Given the description of an element on the screen output the (x, y) to click on. 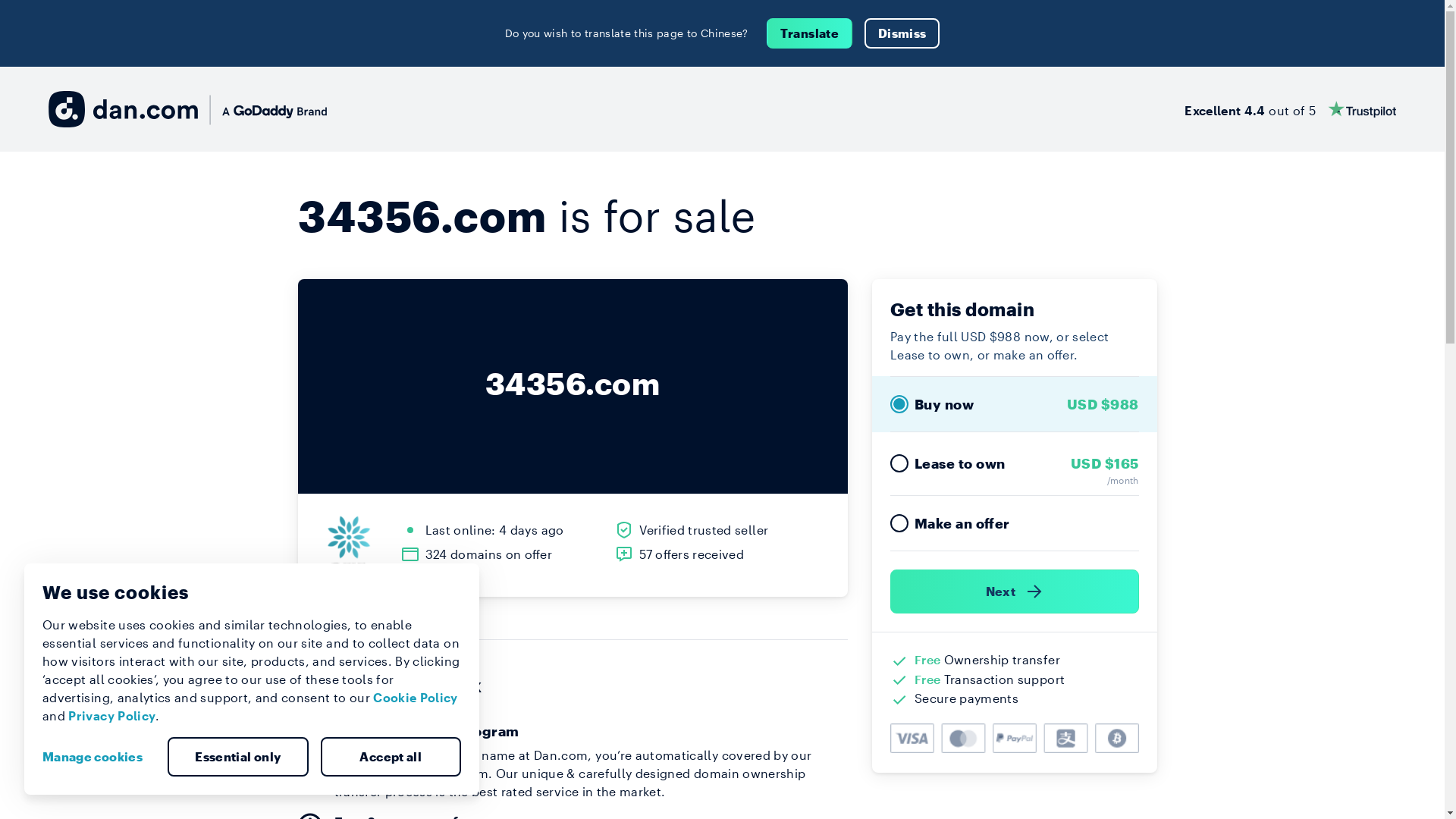
Essential only Element type: text (237, 756)
Privacy Policy Element type: text (111, 715)
Translate Element type: text (809, 33)
Next
) Element type: text (1014, 591)
Manage cookies Element type: text (98, 756)
Excellent 4.4 out of 5 Element type: text (1290, 109)
Cookie Policy Element type: text (415, 697)
Dismiss Element type: text (901, 33)
Accept all Element type: text (390, 756)
